Given the description of an element on the screen output the (x, y) to click on. 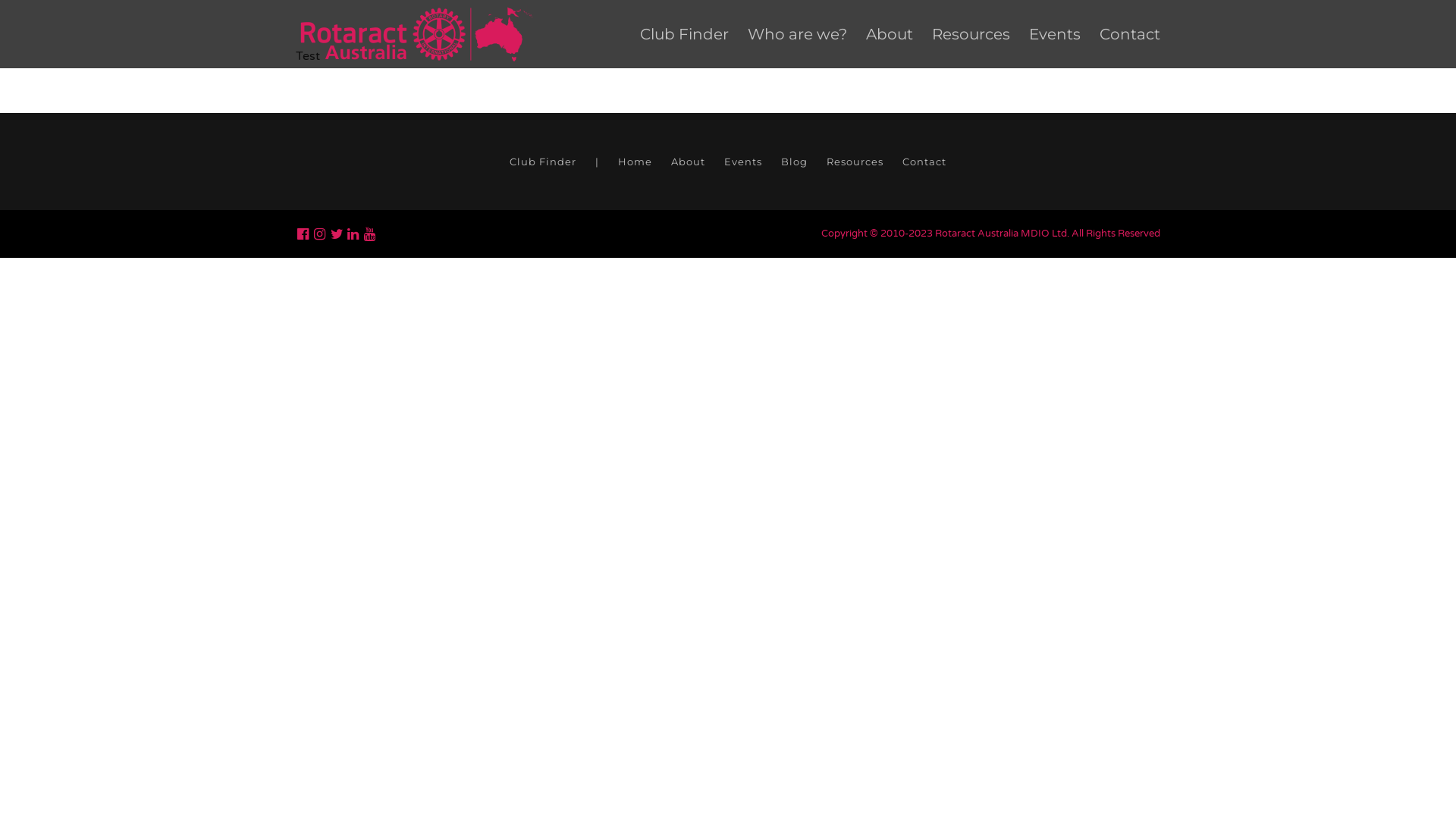
Home Element type: text (635, 161)
Events Element type: text (1054, 33)
Who are we? Element type: text (797, 33)
About Element type: text (688, 161)
Resources Element type: text (854, 161)
Resources Element type: text (970, 33)
Club Finder Element type: text (542, 161)
Contact Element type: text (1129, 33)
Blog Element type: text (794, 161)
Events Element type: text (743, 161)
Contact Element type: text (924, 161)
Club Finder Element type: text (684, 33)
| Element type: text (597, 161)
About Element type: text (889, 33)
